Given the description of an element on the screen output the (x, y) to click on. 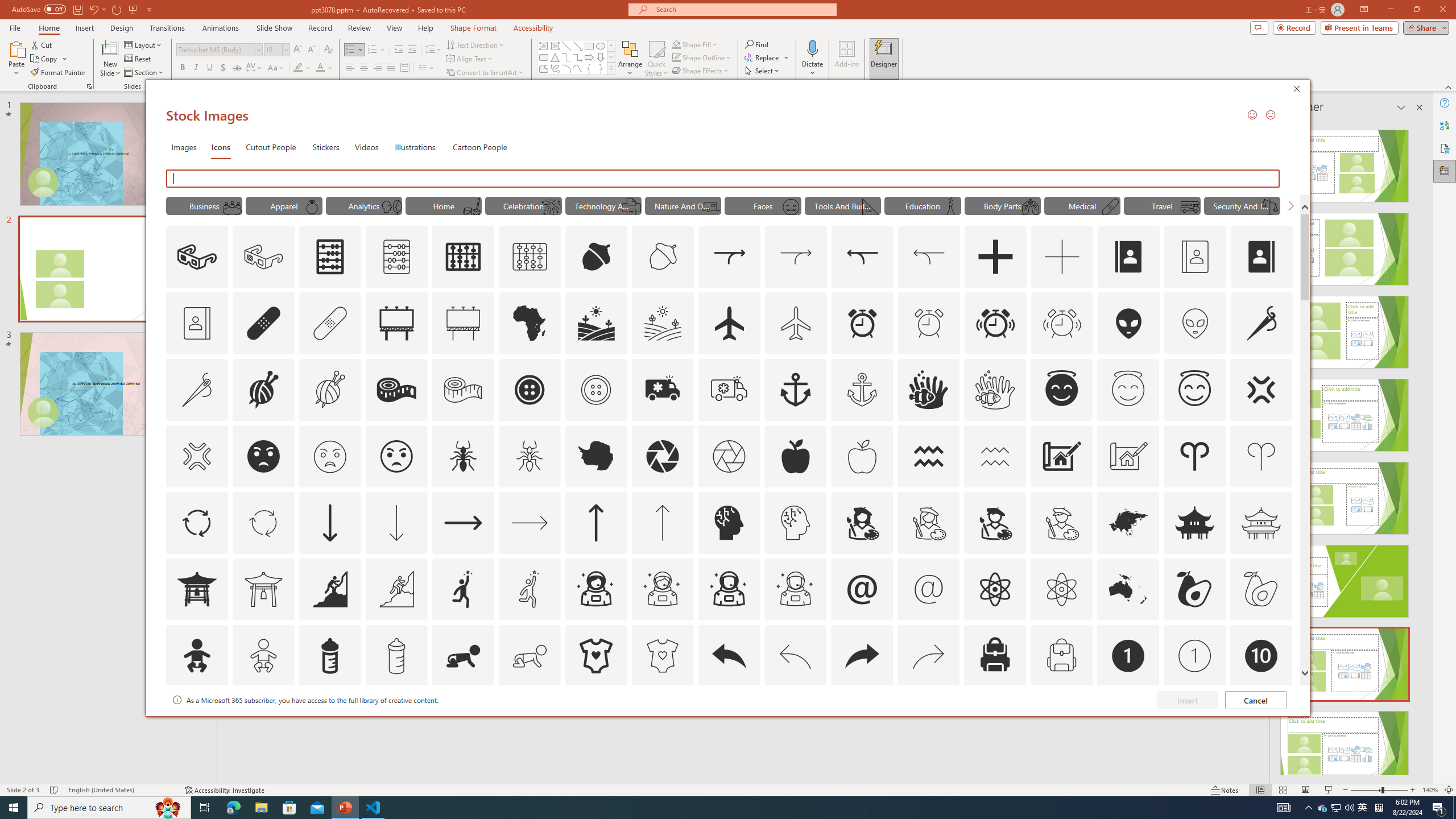
AutomationID: Icons_AlarmClock (863, 323)
Freeform: Shape (543, 68)
Find... (756, 44)
AutomationID: Icons_AlterationsTailoring3 (529, 389)
AutomationID: Icons_AddressBook_LTR_M (1194, 256)
